Given the description of an element on the screen output the (x, y) to click on. 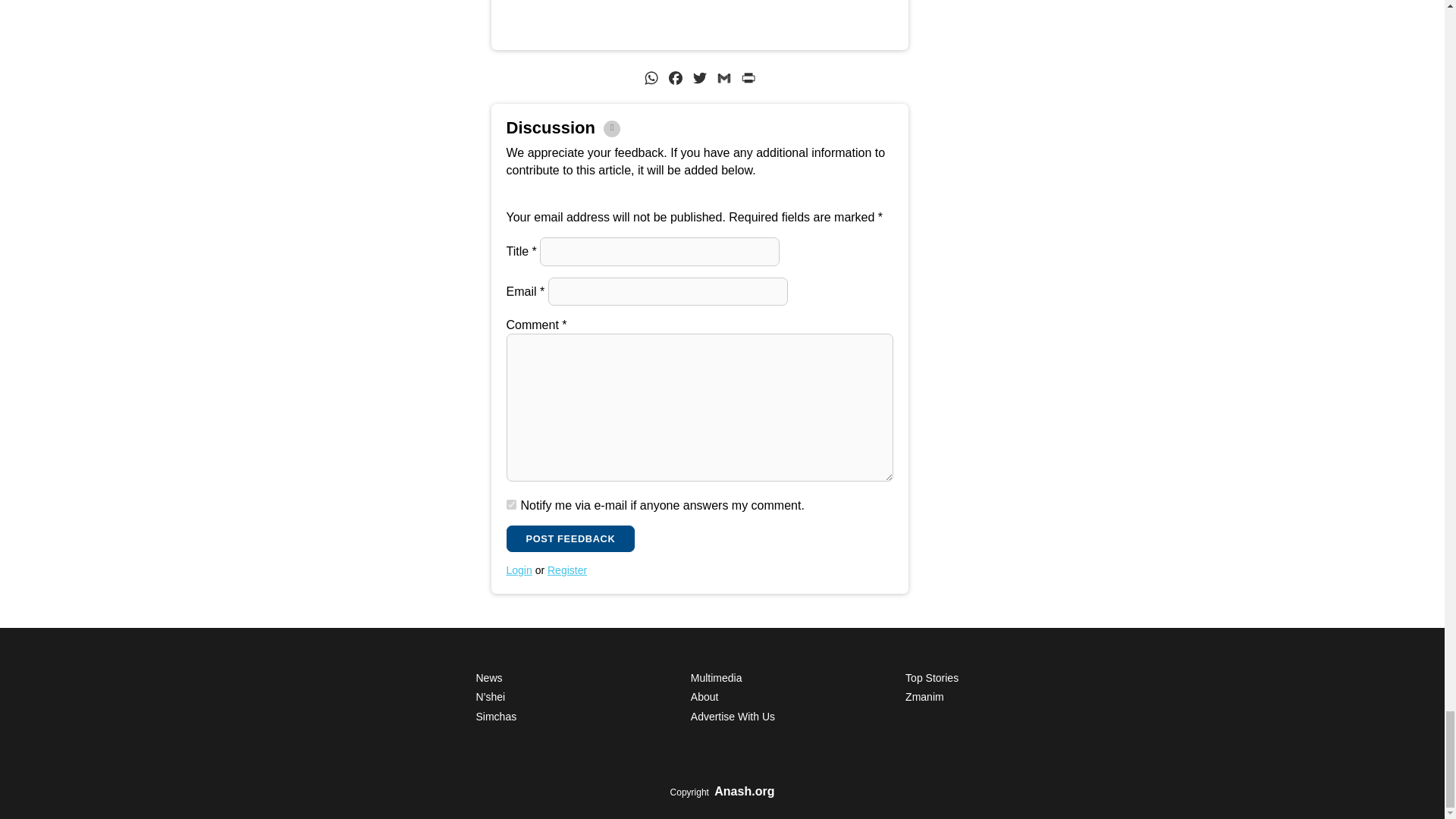
Post Feedback (570, 538)
on (511, 504)
